Given the description of an element on the screen output the (x, y) to click on. 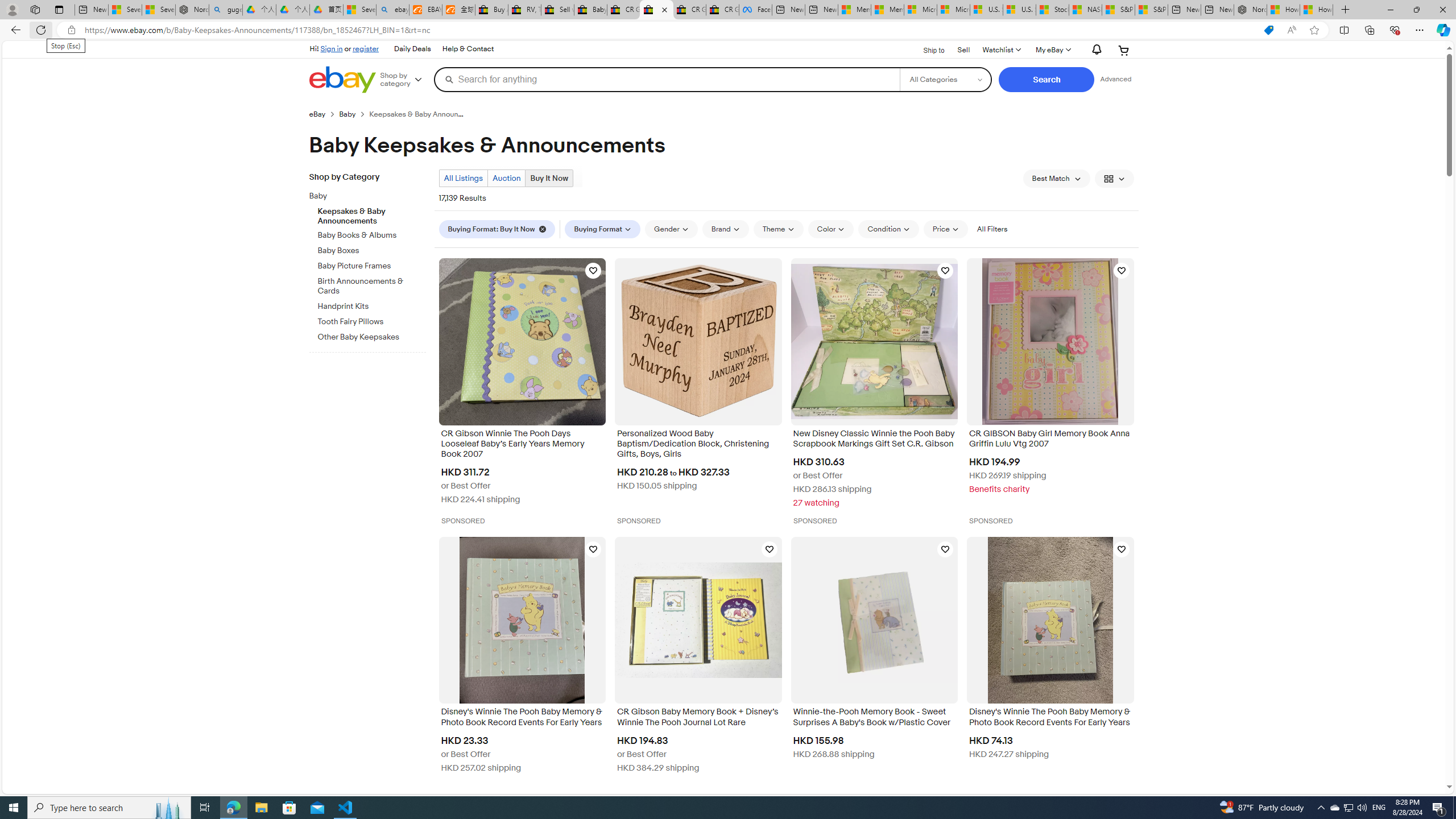
Sell (963, 49)
Workspaces (34, 9)
Baby (362, 196)
How to Use a Monitor With Your Closed Laptop (1316, 9)
Baby Boxes (371, 248)
Buying Format: Buy It Now - Remove Filter (497, 229)
Birth Announcements & Cards (371, 286)
All Filters (991, 229)
Shop by category (405, 79)
Select a category for search (945, 78)
Restore (1416, 9)
Settings and more (Alt+F) (1419, 29)
